Given the description of an element on the screen output the (x, y) to click on. 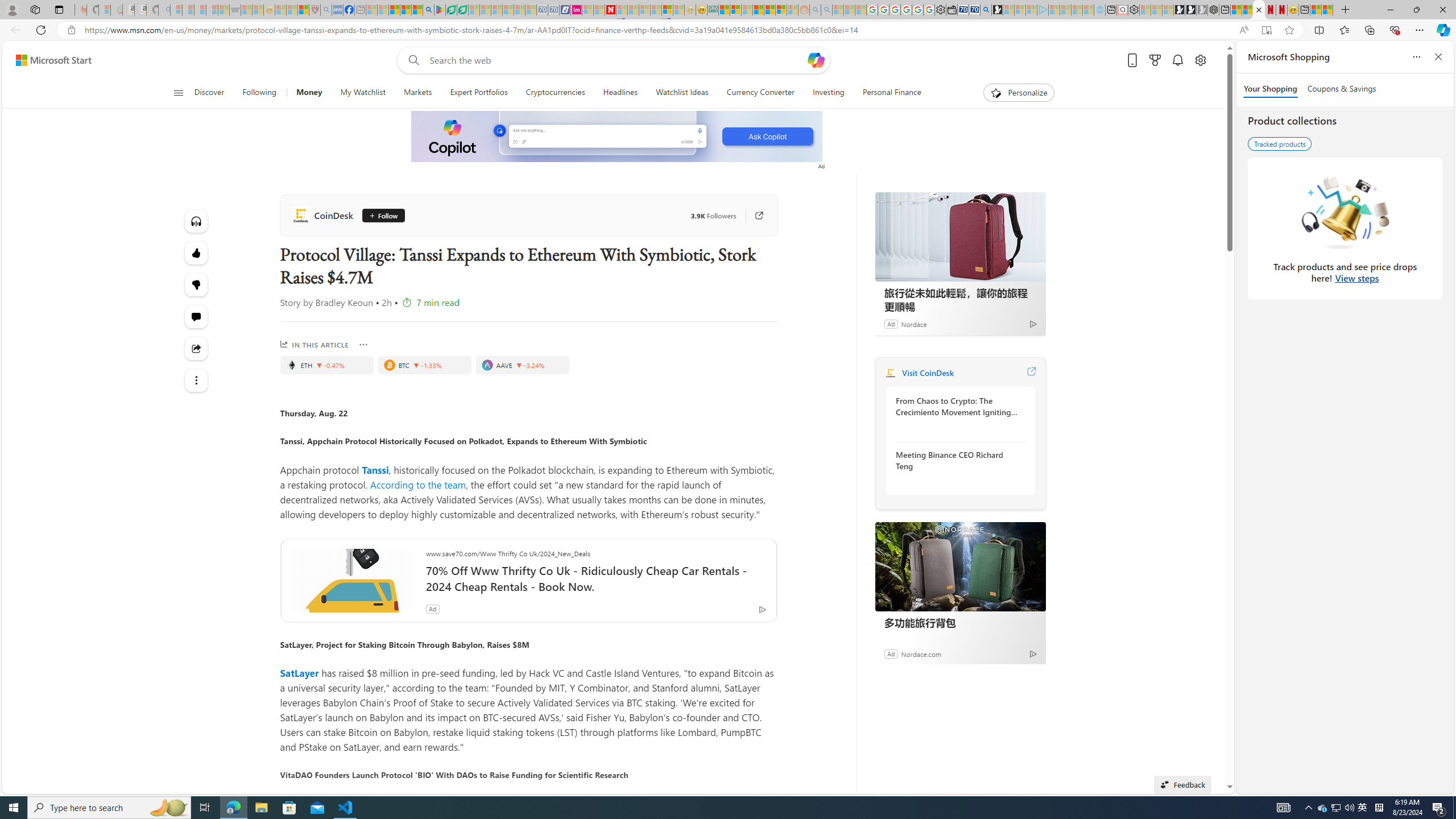
Pets - MSN (405, 9)
Headlines (620, 92)
Headlines (619, 92)
Meeting Binance CEO Richard Teng (957, 459)
Personal Finance (891, 92)
